Given the description of an element on the screen output the (x, y) to click on. 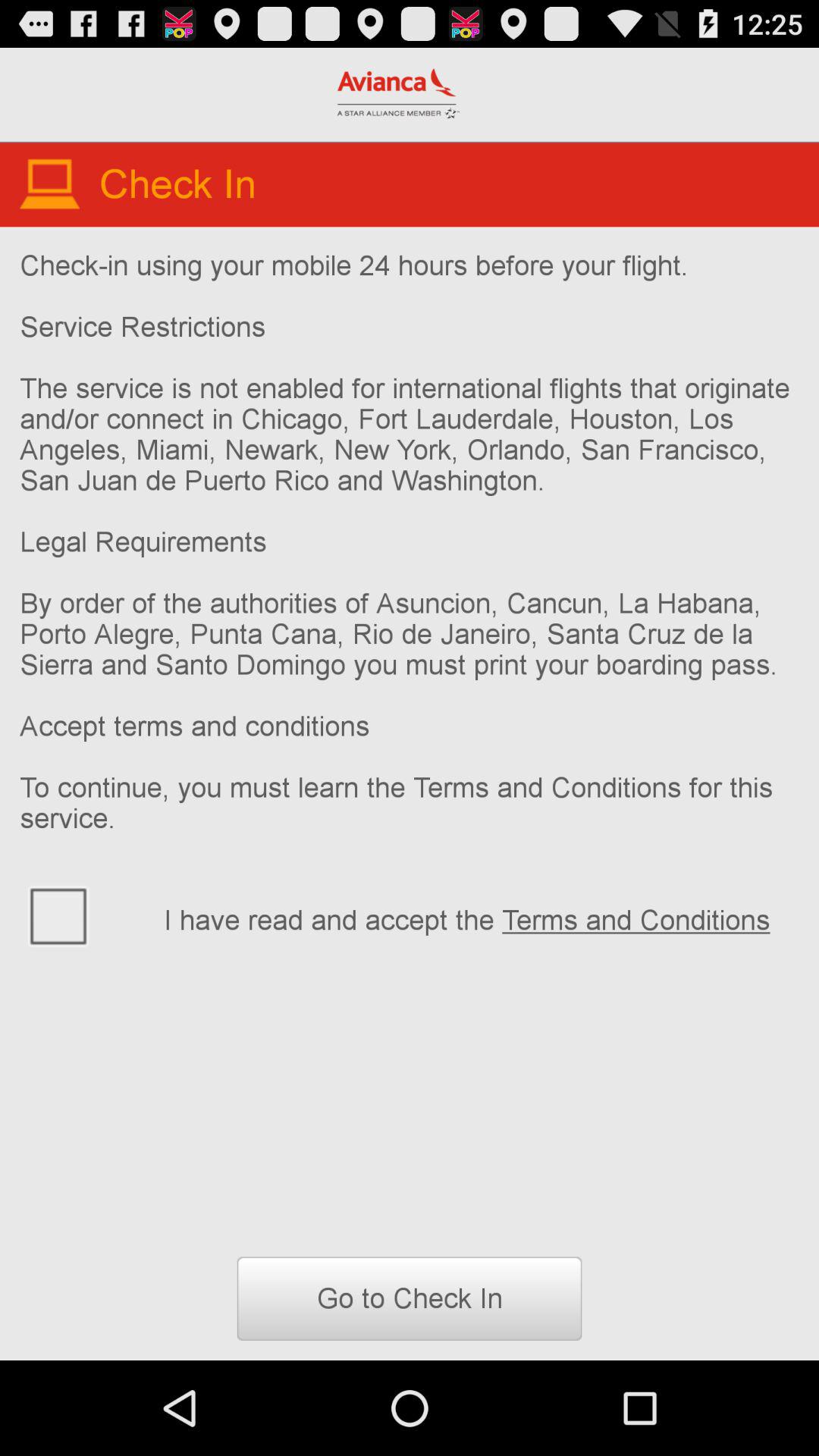
flip to go to check button (409, 1298)
